Given the description of an element on the screen output the (x, y) to click on. 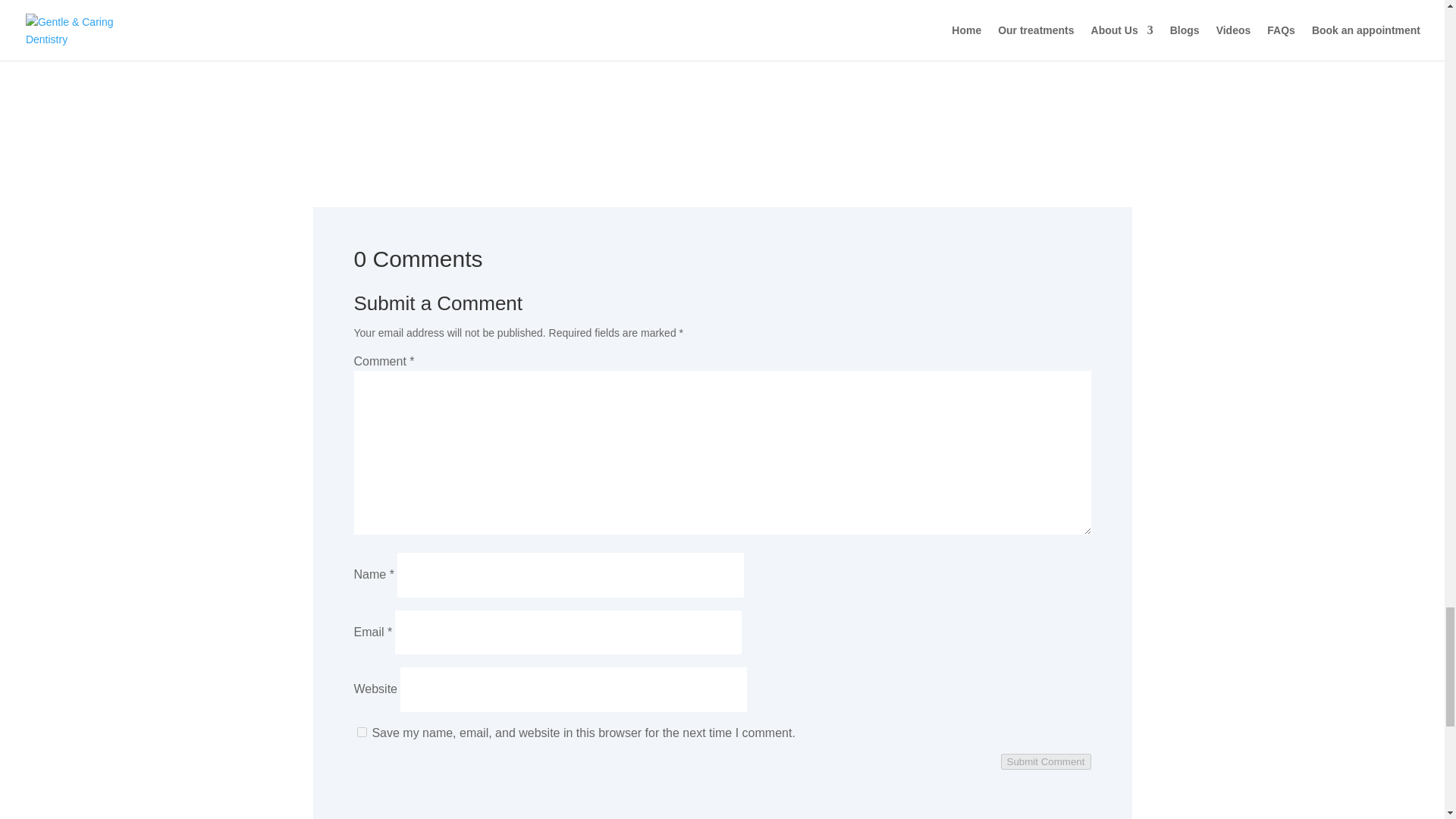
yes (361, 732)
Submit Comment (1045, 761)
